Given the description of an element on the screen output the (x, y) to click on. 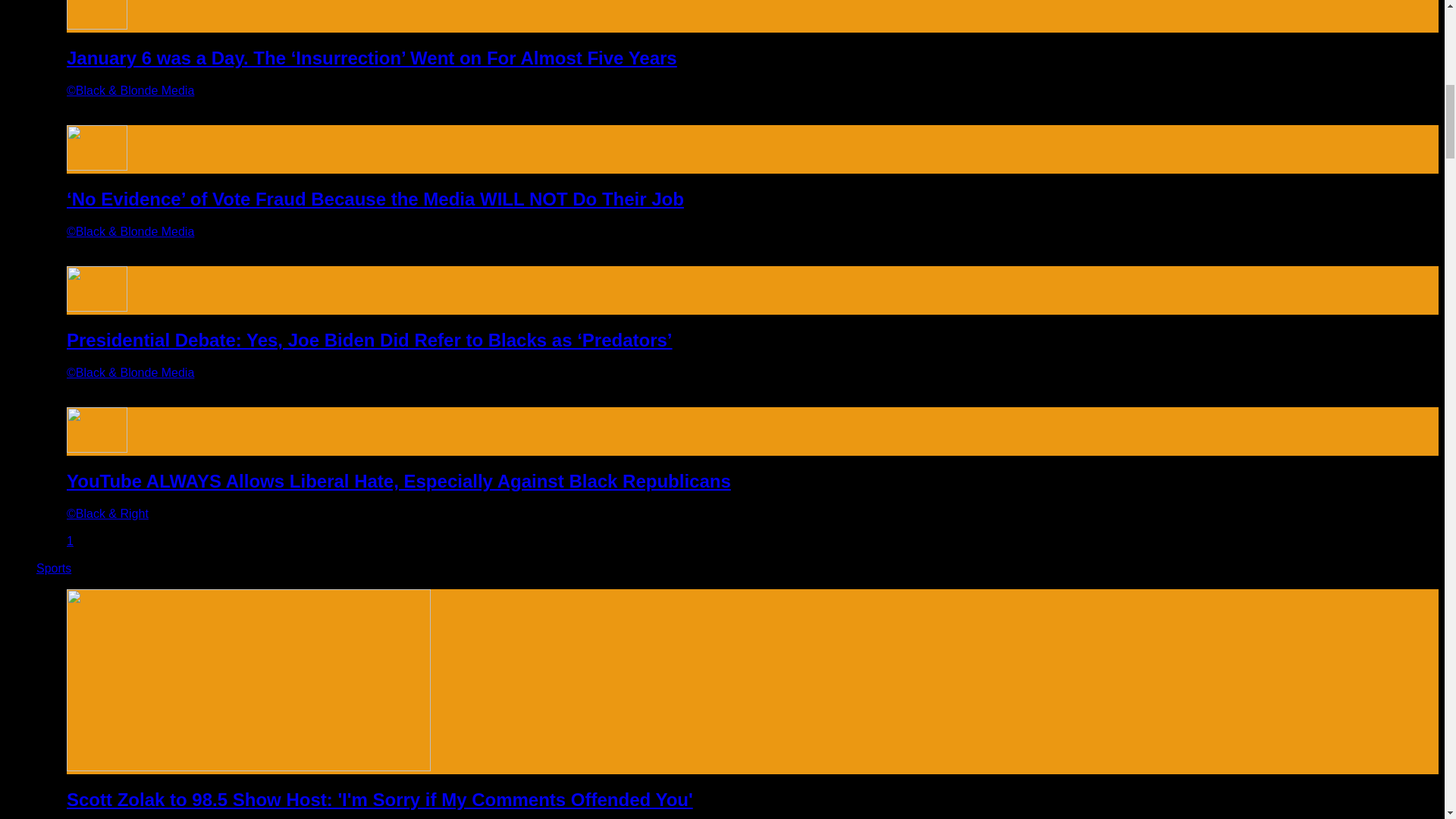
1 (70, 540)
Sports (53, 567)
